Given the description of an element on the screen output the (x, y) to click on. 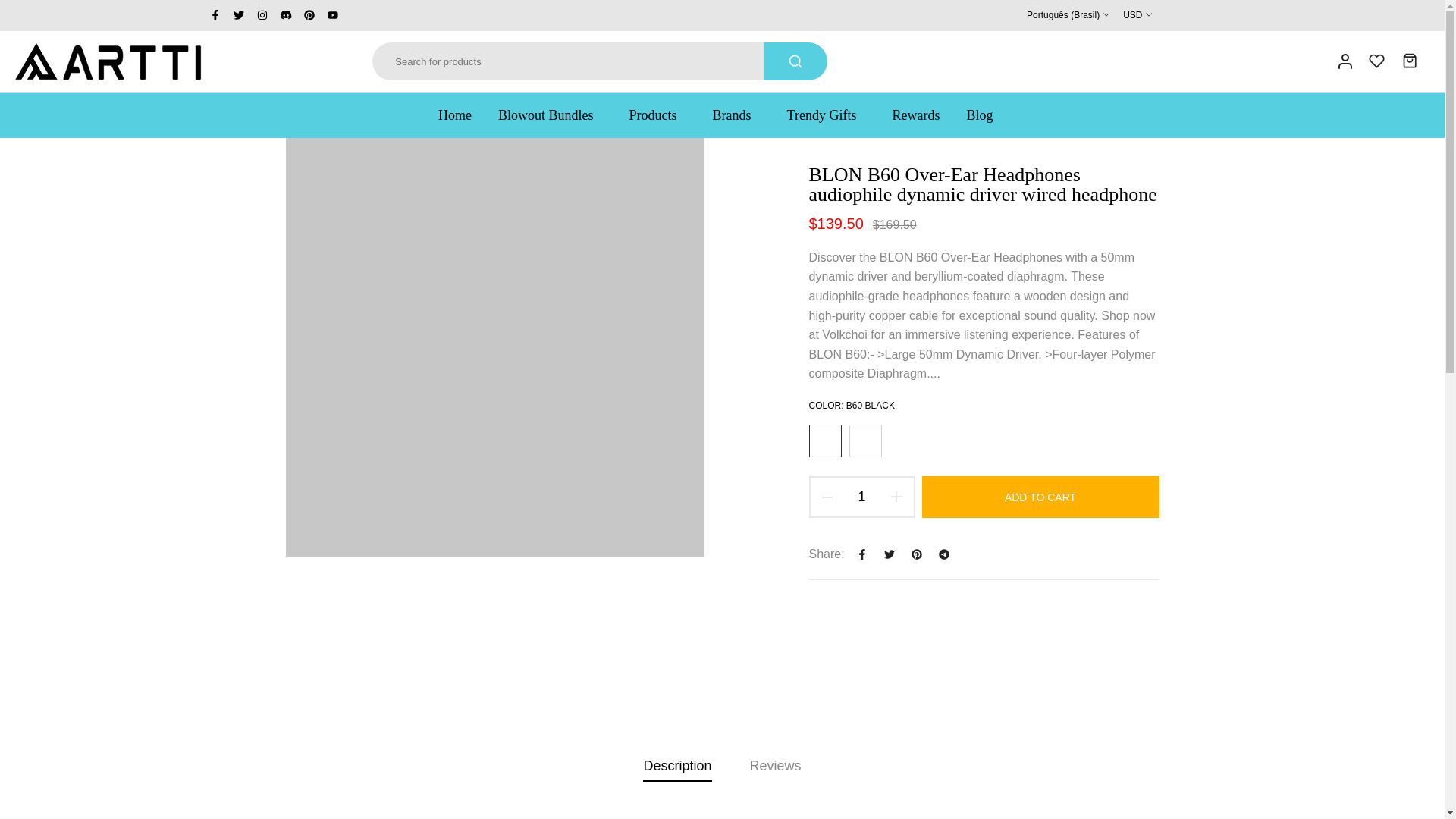
Home (461, 115)
Follow on Discord (285, 15)
Follow on YouTube (332, 15)
Follow on Instagram (261, 15)
USD (1136, 14)
Blog (979, 115)
Skip to content (10, 7)
B60 Black (824, 441)
B60 Silver (865, 441)
Share on Facebook (861, 553)
Brands (735, 115)
Blowout Bundles (549, 115)
Share on Pinterest (917, 553)
Products (656, 115)
Share on Telegram (943, 553)
